Given the description of an element on the screen output the (x, y) to click on. 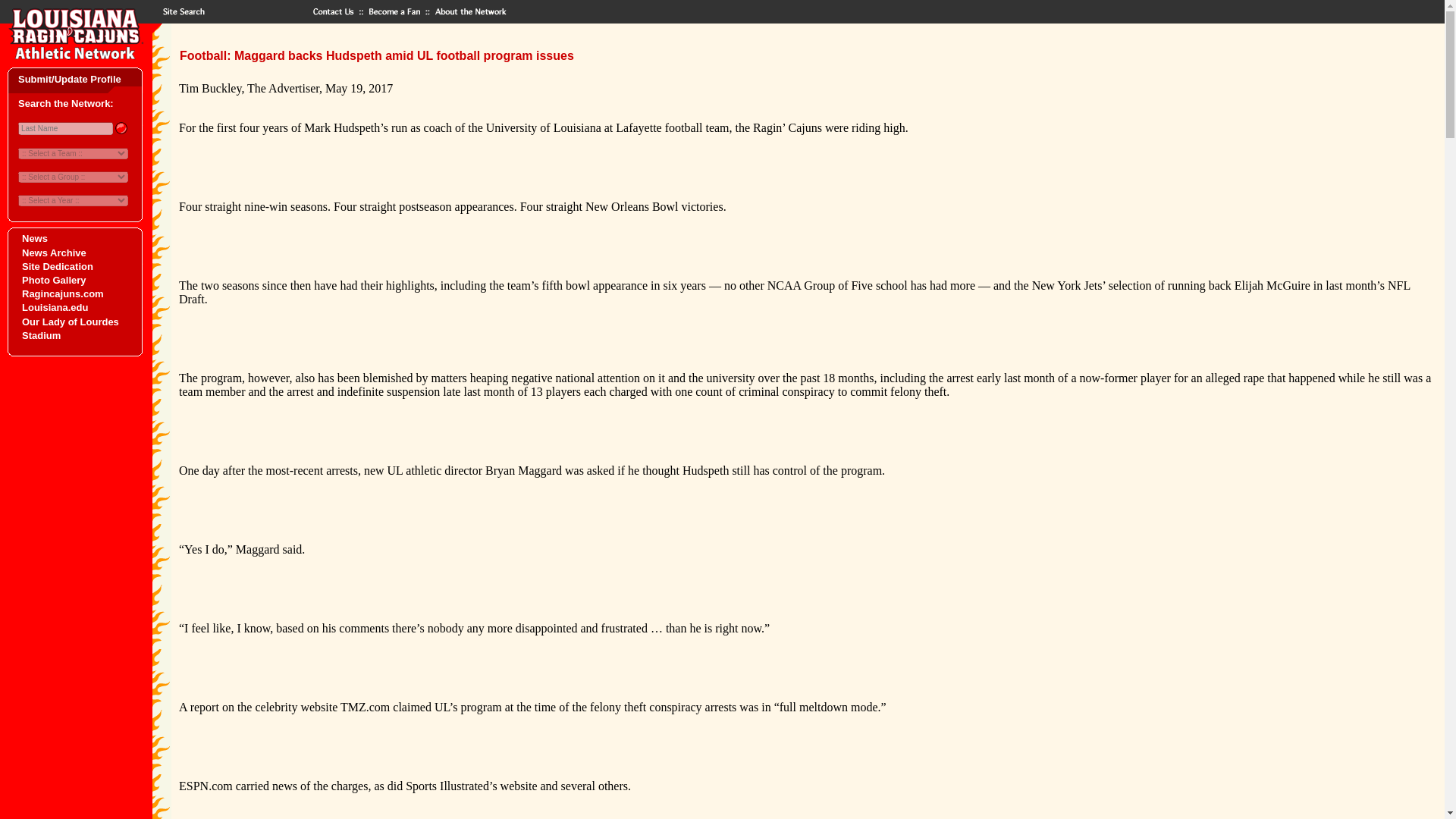
Site Dedication (57, 266)
Our Lady of Lourdes Stadium (70, 327)
Photo Gallery (53, 279)
News Archive (53, 252)
Submit (120, 127)
Ragincajuns.com (62, 293)
Louisiana.edu (54, 307)
News (34, 238)
